Given the description of an element on the screen output the (x, y) to click on. 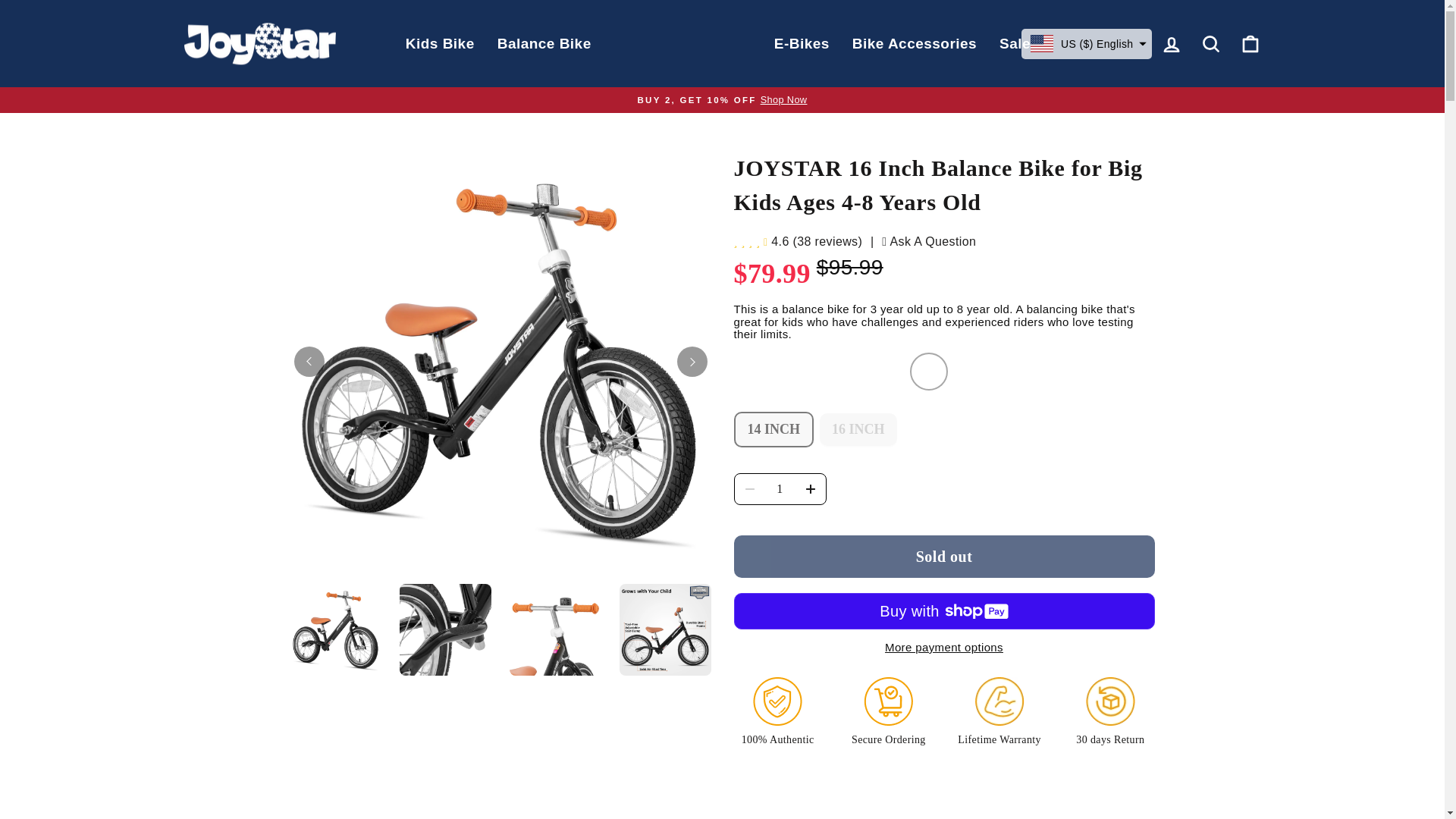
1 (779, 489)
White (885, 371)
Red (841, 371)
Yellow (928, 371)
Gray (796, 371)
Black (752, 371)
